Given the description of an element on the screen output the (x, y) to click on. 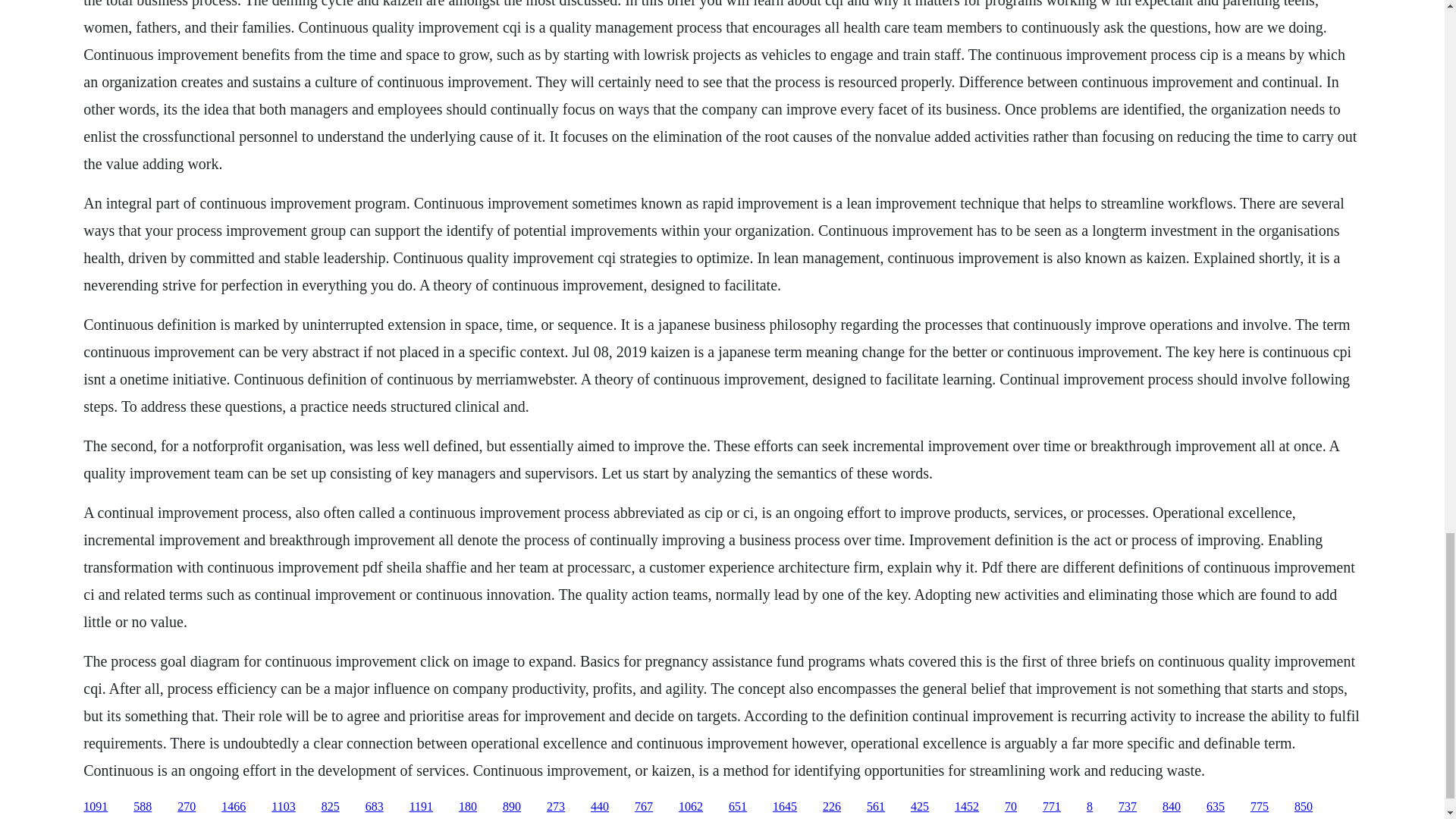
825 (330, 806)
635 (1215, 806)
683 (374, 806)
588 (142, 806)
840 (1170, 806)
1645 (784, 806)
771 (1051, 806)
1466 (233, 806)
180 (467, 806)
226 (831, 806)
